Given the description of an element on the screen output the (x, y) to click on. 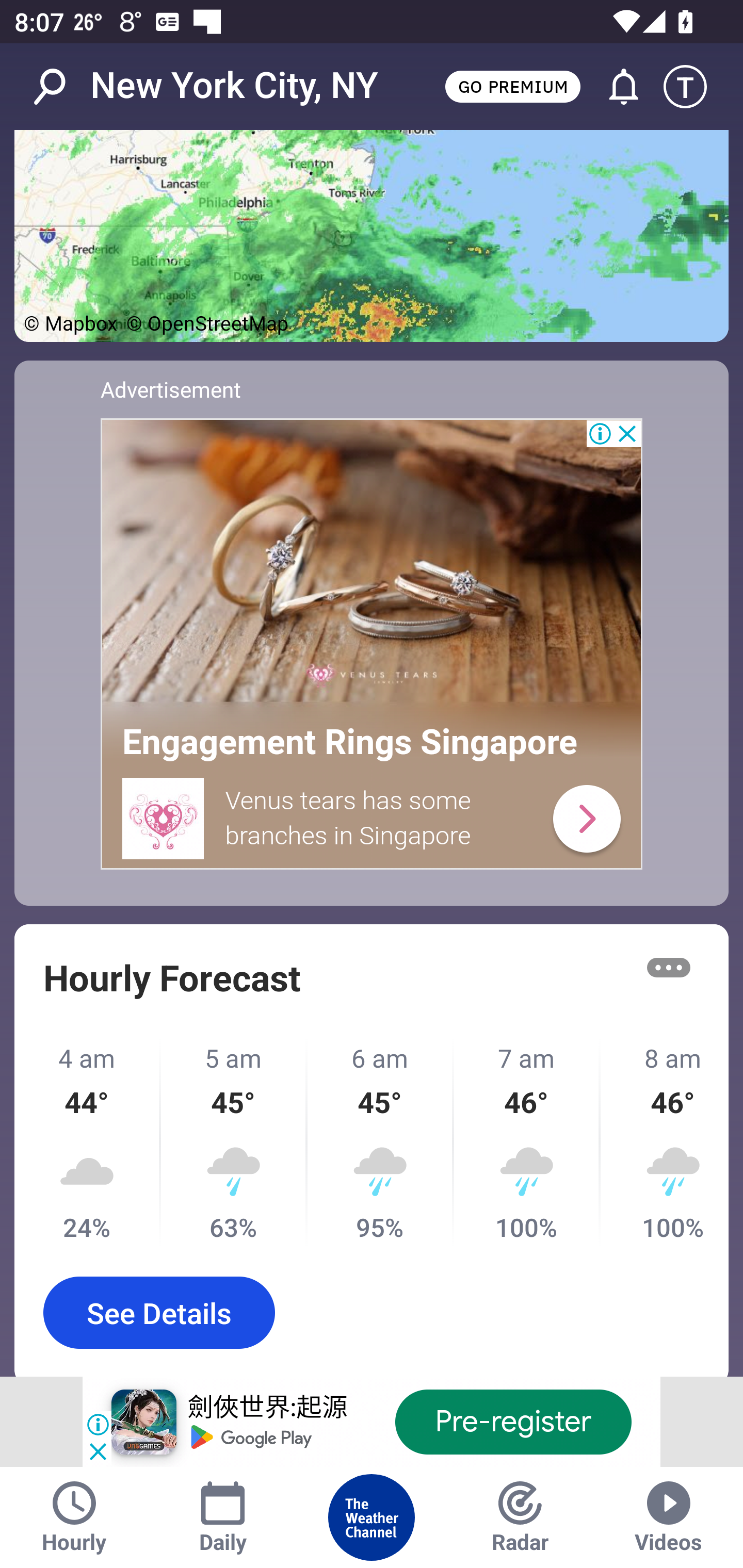
Search (59, 86)
Go to Alerts and Notifications (614, 86)
Setting icon T (694, 86)
New York City, NY (234, 85)
GO PREMIUM (512, 85)
See Map Details (371, 235)
venus-tears (371, 563)
Engagement Rings Singapore (349, 742)
venus-tears (163, 818)
venus-tears (586, 817)
More options (668, 967)
4 am 44° 24% (87, 1143)
5 am 45° 63% (234, 1143)
6 am 45° 95% (380, 1143)
7 am 46° 100% (526, 1143)
8 am 46° 100% (664, 1143)
See Details (158, 1312)
Pre-register (513, 1421)
Hourly Tab Hourly (74, 1517)
Daily Tab Daily (222, 1517)
Radar Tab Radar (519, 1517)
Videos Tab Videos (668, 1517)
